Given the description of an element on the screen output the (x, y) to click on. 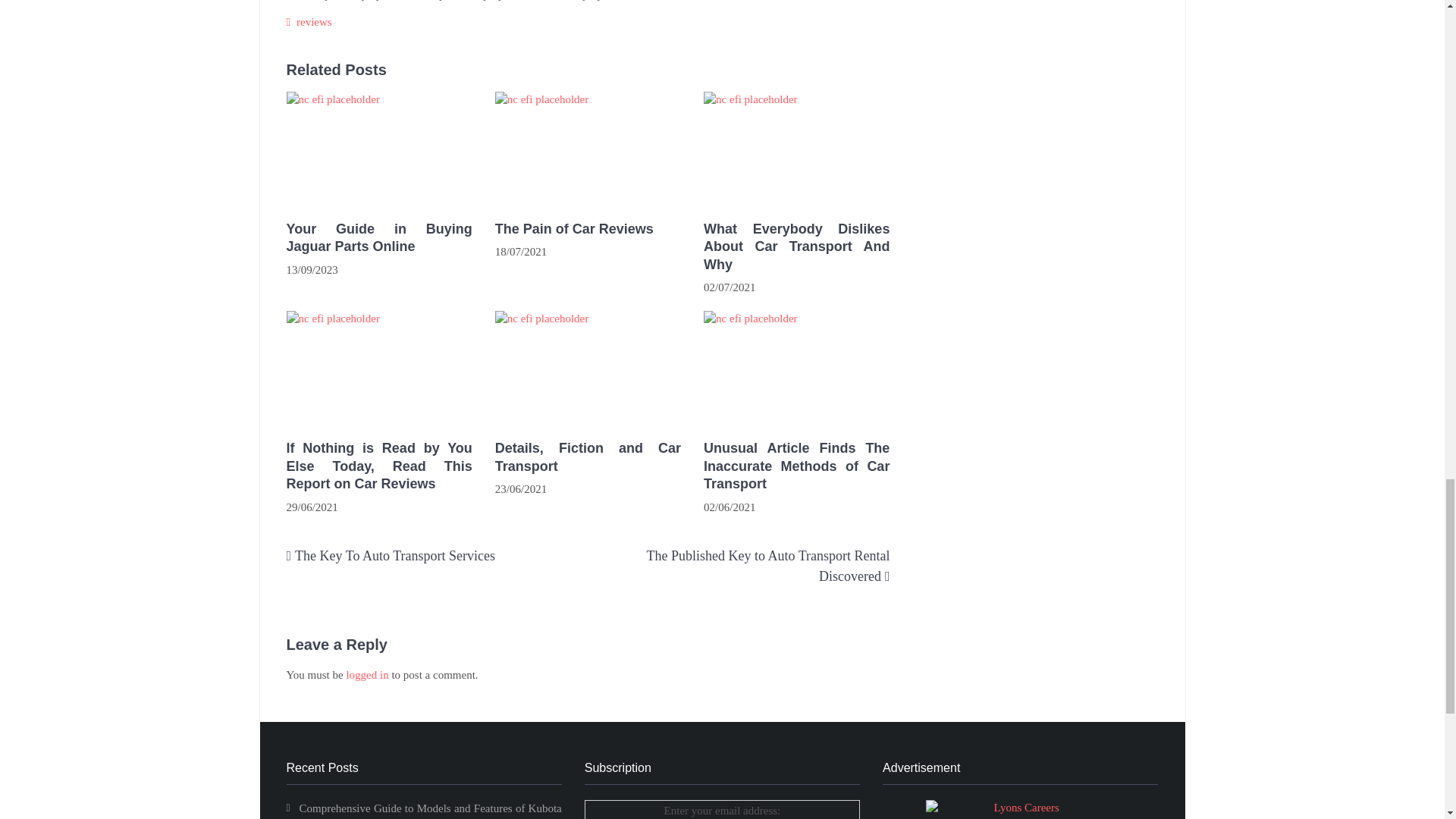
What Everybody Dislikes About Car Transport And Why (796, 246)
Details, Fiction and Car Transport (588, 457)
reviews (314, 21)
The Pain of Car Reviews (588, 229)
Your Guide in Buying Jaguar Parts Online (378, 238)
logged in (367, 674)
What Everybody Dislikes About Car Transport And Why (796, 148)
